Given the description of an element on the screen output the (x, y) to click on. 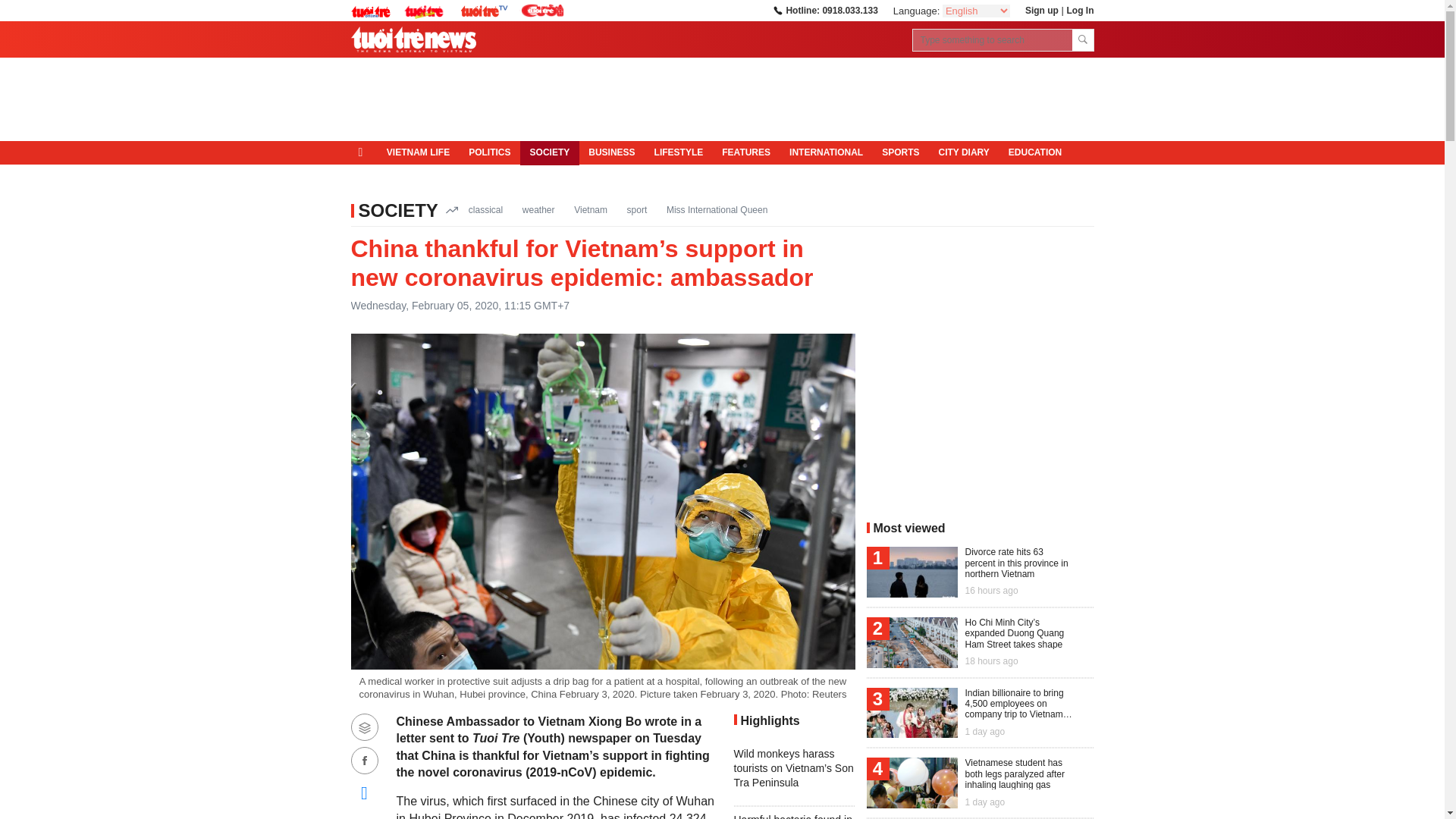
CITY DIARY (963, 152)
Lifestyle (679, 152)
POLITICS (489, 152)
VIETNAM LIFE (417, 152)
MEDIA (374, 177)
SOCIETY (549, 152)
City Diary (963, 152)
sport (637, 209)
FEATURES (746, 152)
INTERNATIONAL (826, 152)
